Given the description of an element on the screen output the (x, y) to click on. 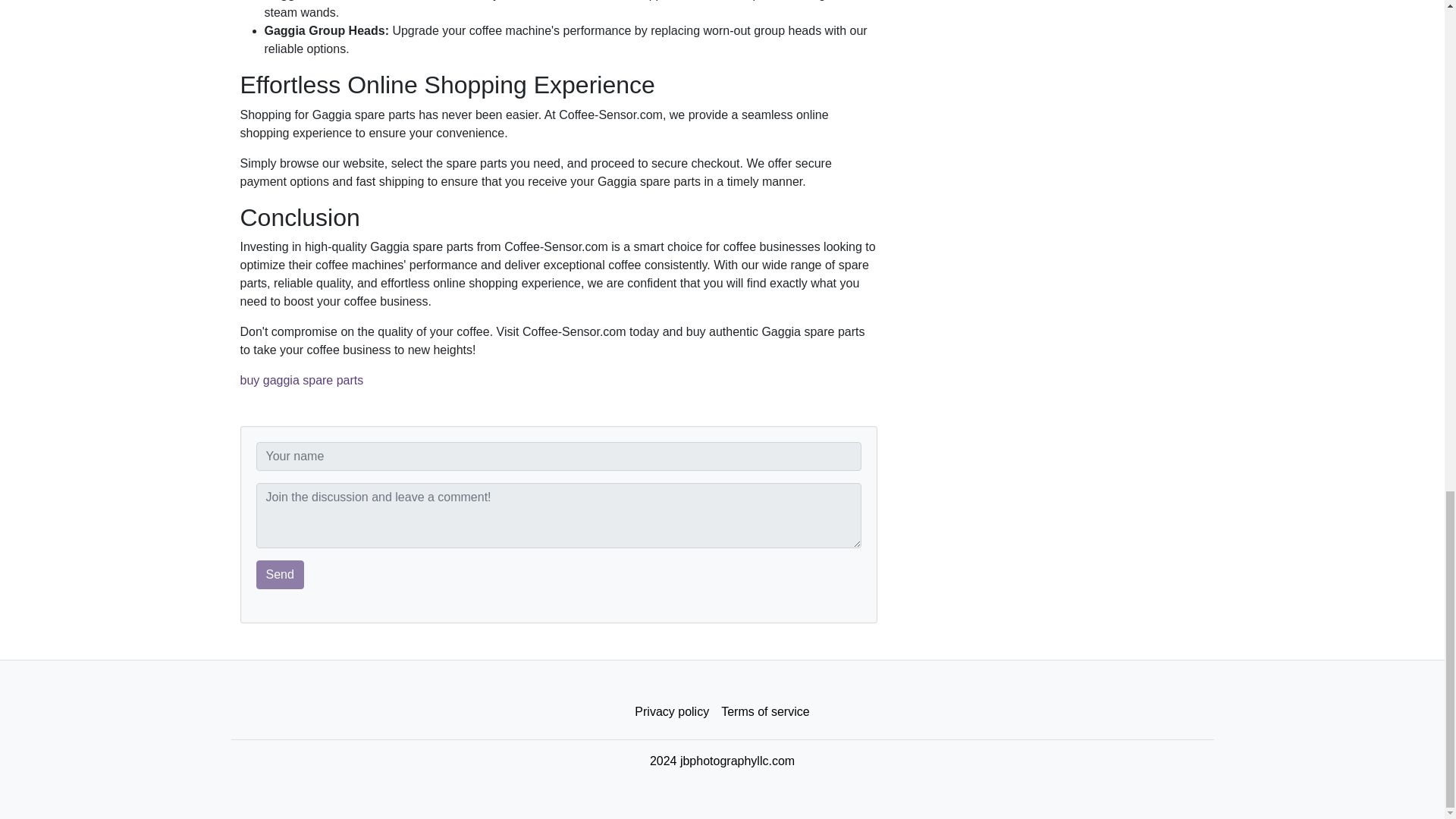
Send (280, 574)
Send (280, 574)
buy gaggia spare parts (301, 379)
Terms of service (764, 711)
Privacy policy (671, 711)
